Given the description of an element on the screen output the (x, y) to click on. 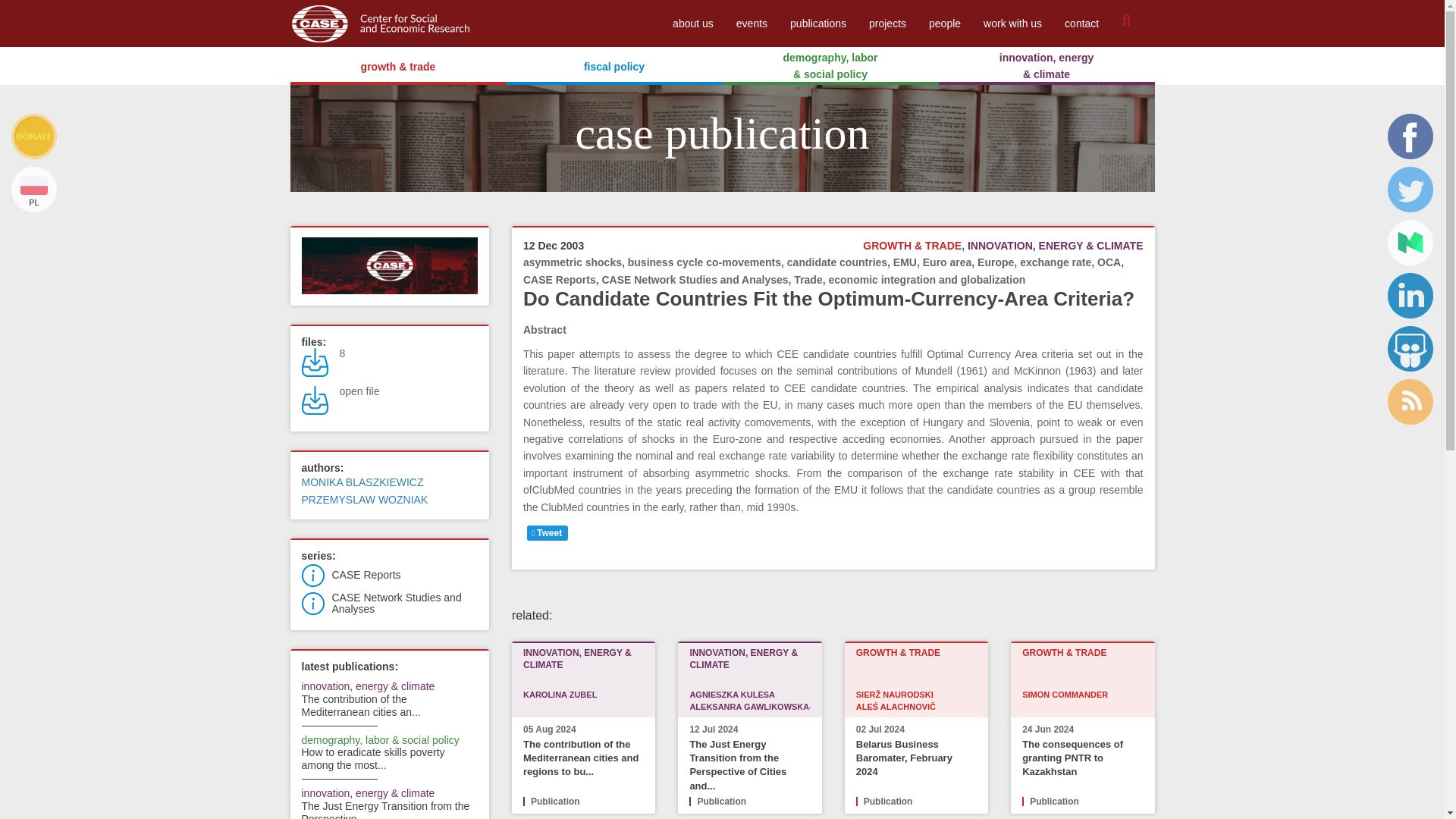
KAROLINA ZUBEL (559, 694)
projects (887, 22)
The Just Energy Transition from the Perspective... (385, 809)
publications (817, 22)
open file (359, 390)
people (944, 22)
events (751, 22)
about us (693, 22)
PRZEMYSLAW WOZNIAK (364, 499)
